Given the description of an element on the screen output the (x, y) to click on. 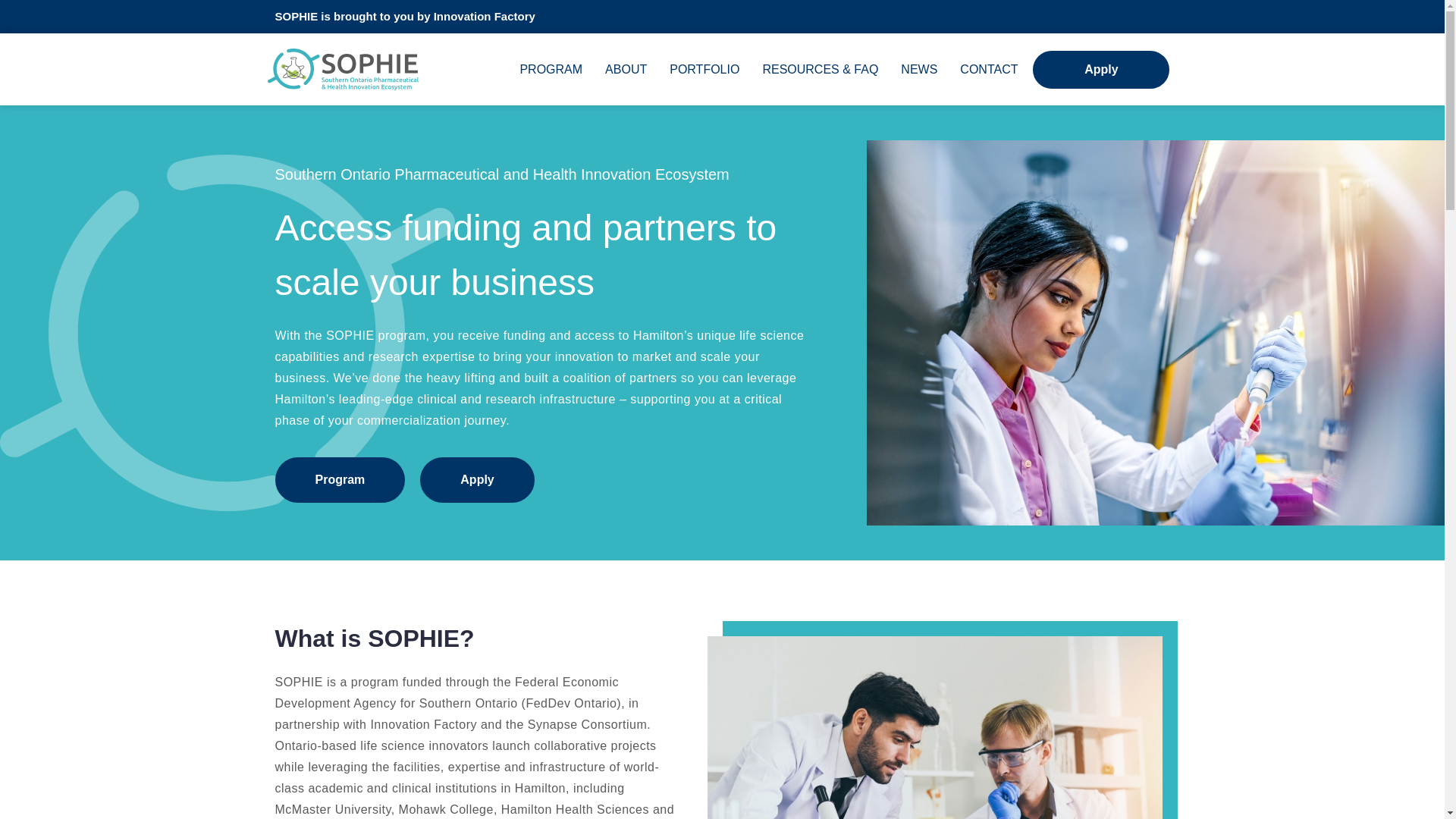
Apply (1100, 68)
CONTACT (988, 69)
PROGRAM (550, 69)
FR (1059, 15)
EN (1038, 15)
NEWS (919, 69)
PORTFOLIO (704, 69)
Apply (477, 479)
Program (339, 479)
SOPHIE is brought to you by Innovation Factory (404, 15)
ABOUT (625, 69)
English (1038, 15)
